Given the description of an element on the screen output the (x, y) to click on. 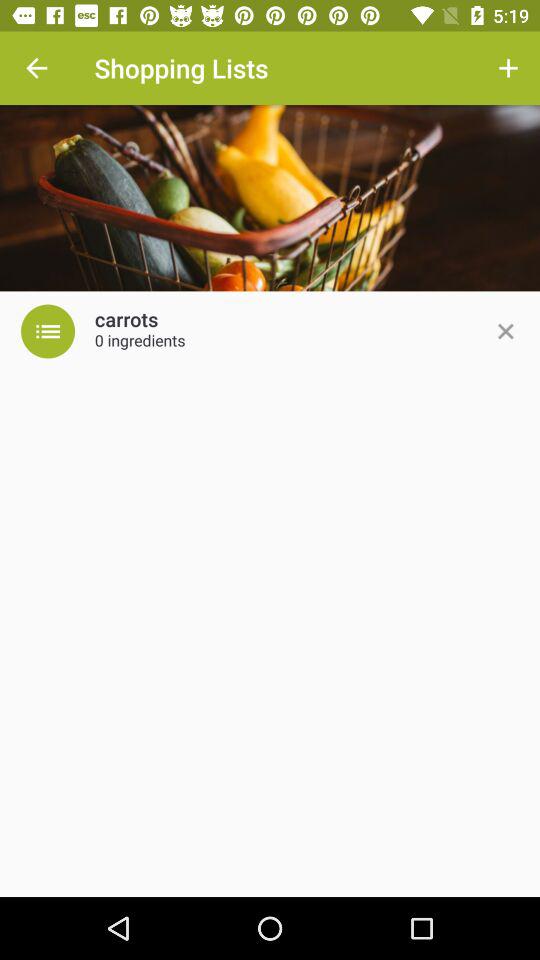
tap the icon next to the 0 ingredients (505, 331)
